Given the description of an element on the screen output the (x, y) to click on. 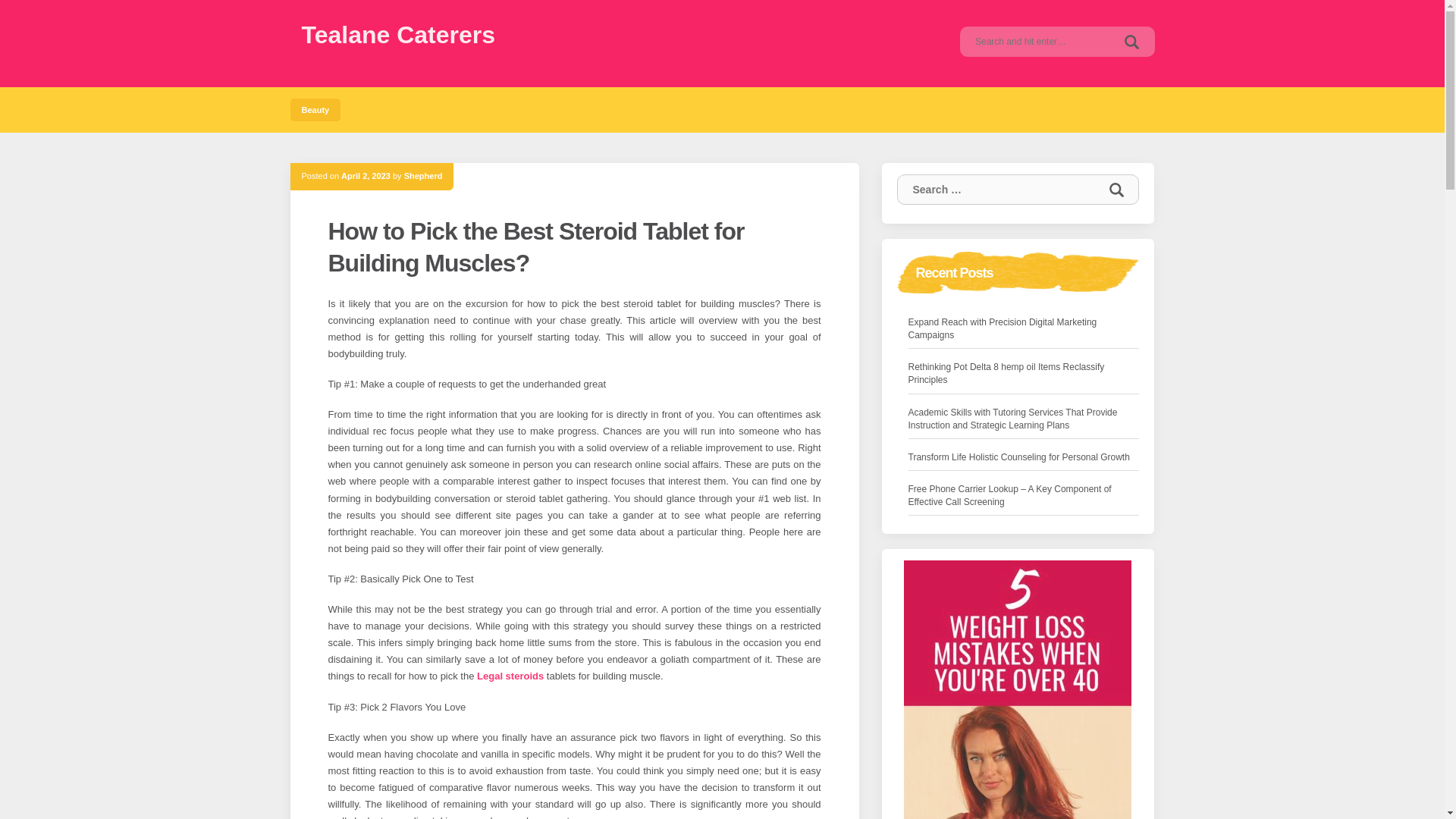
Legal steroids (510, 675)
Search (1115, 189)
Transform Life Holistic Counseling for Personal Growth (1018, 457)
Search (1131, 41)
Beauty (314, 109)
April 2, 2023 (365, 175)
Rethinking Pot Delta 8 hemp oil Items Reclassify Principles (1024, 373)
Search (1115, 189)
Search (1131, 41)
